Given the description of an element on the screen output the (x, y) to click on. 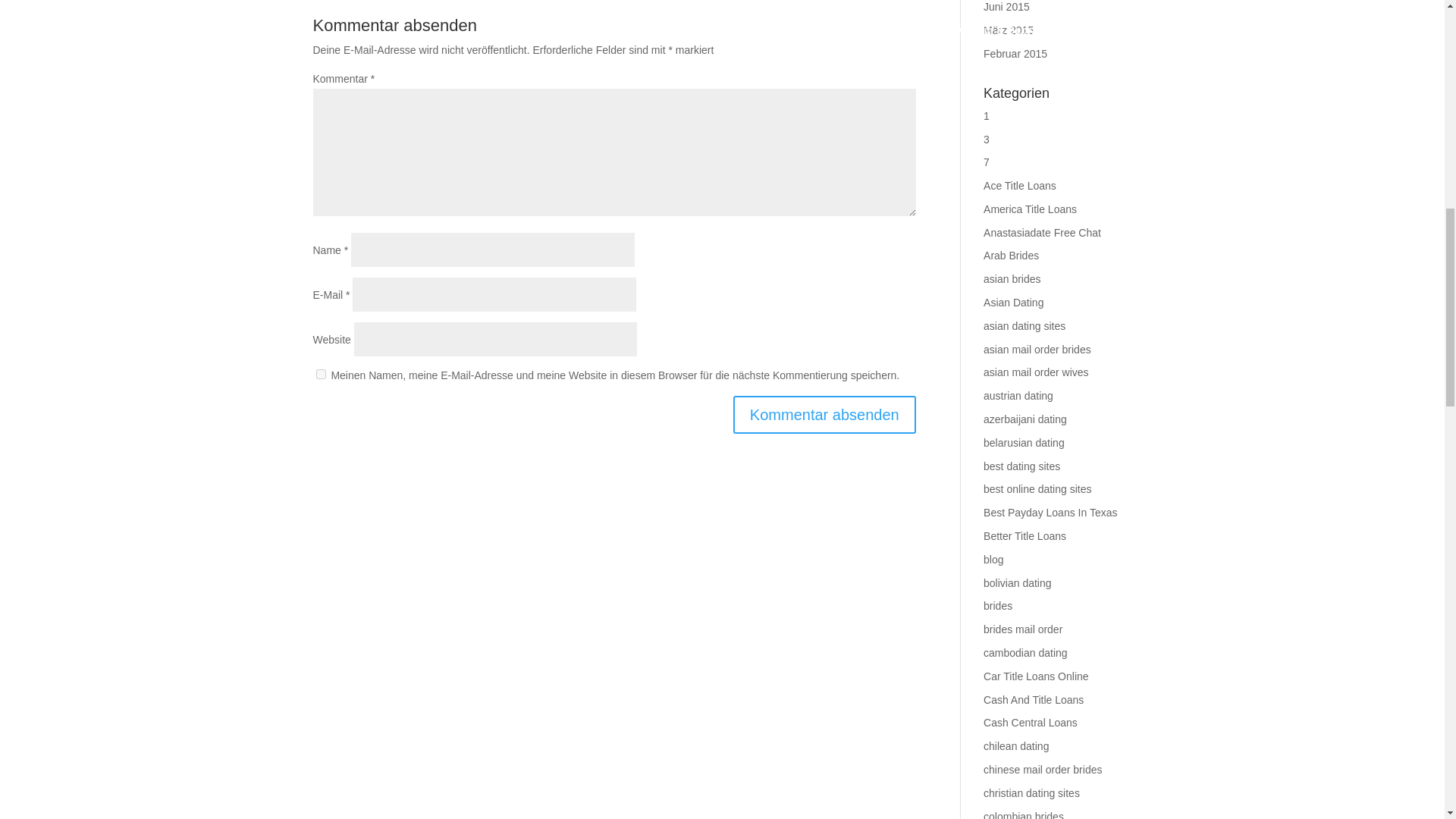
Juni 2015 (1006, 6)
Kommentar absenden (824, 414)
Februar 2015 (1015, 53)
yes (319, 374)
Kommentar absenden (824, 414)
